Given the description of an element on the screen output the (x, y) to click on. 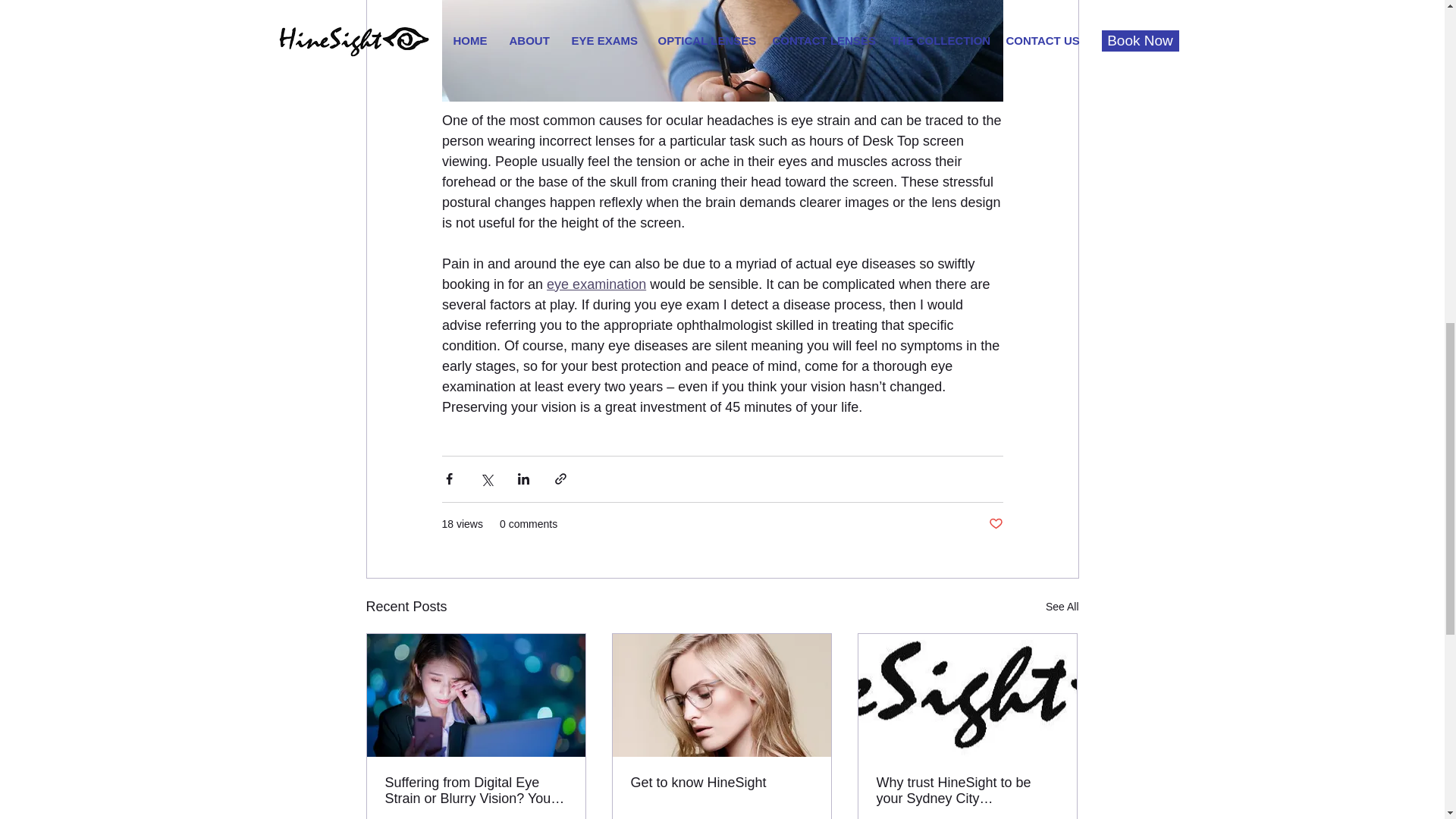
Get to know HineSight (721, 782)
See All (1061, 607)
Post not marked as liked (995, 524)
eye examination (596, 283)
